Given the description of an element on the screen output the (x, y) to click on. 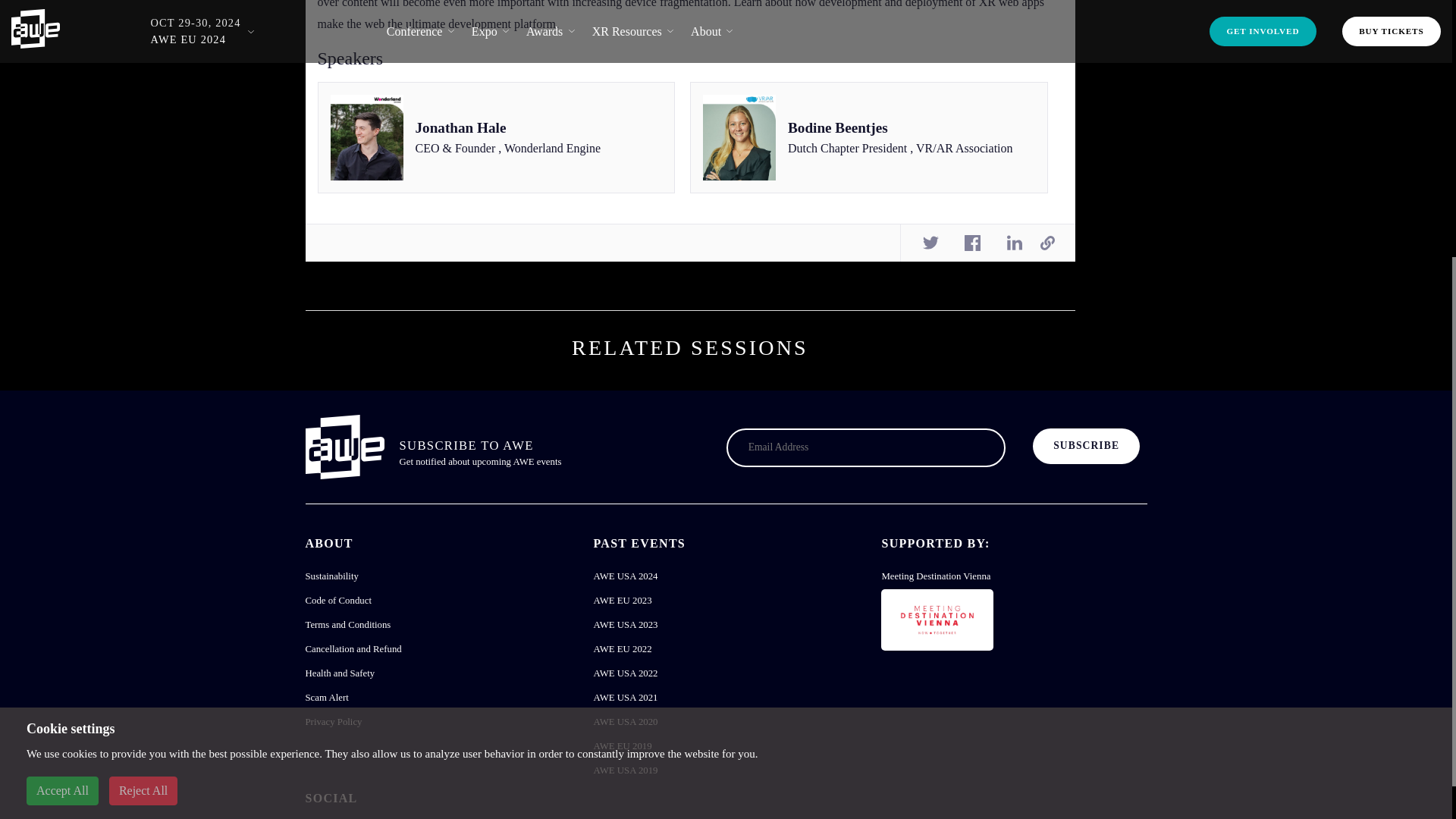
Subscribe (1086, 446)
